Given the description of an element on the screen output the (x, y) to click on. 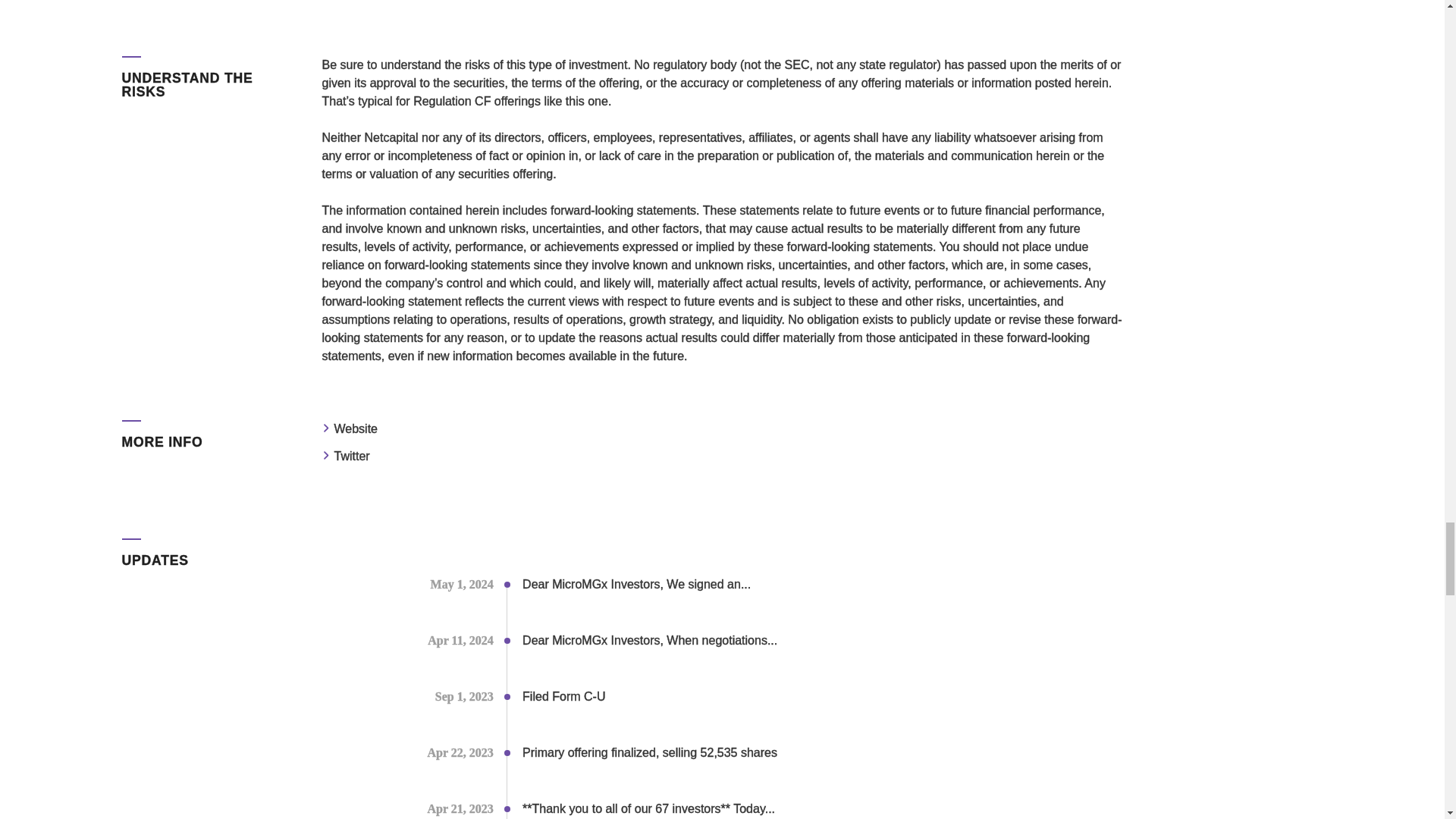
Twitter (351, 455)
the risks of this type of investment (535, 64)
Filed Form C-U (563, 696)
Website (355, 428)
